Given the description of an element on the screen output the (x, y) to click on. 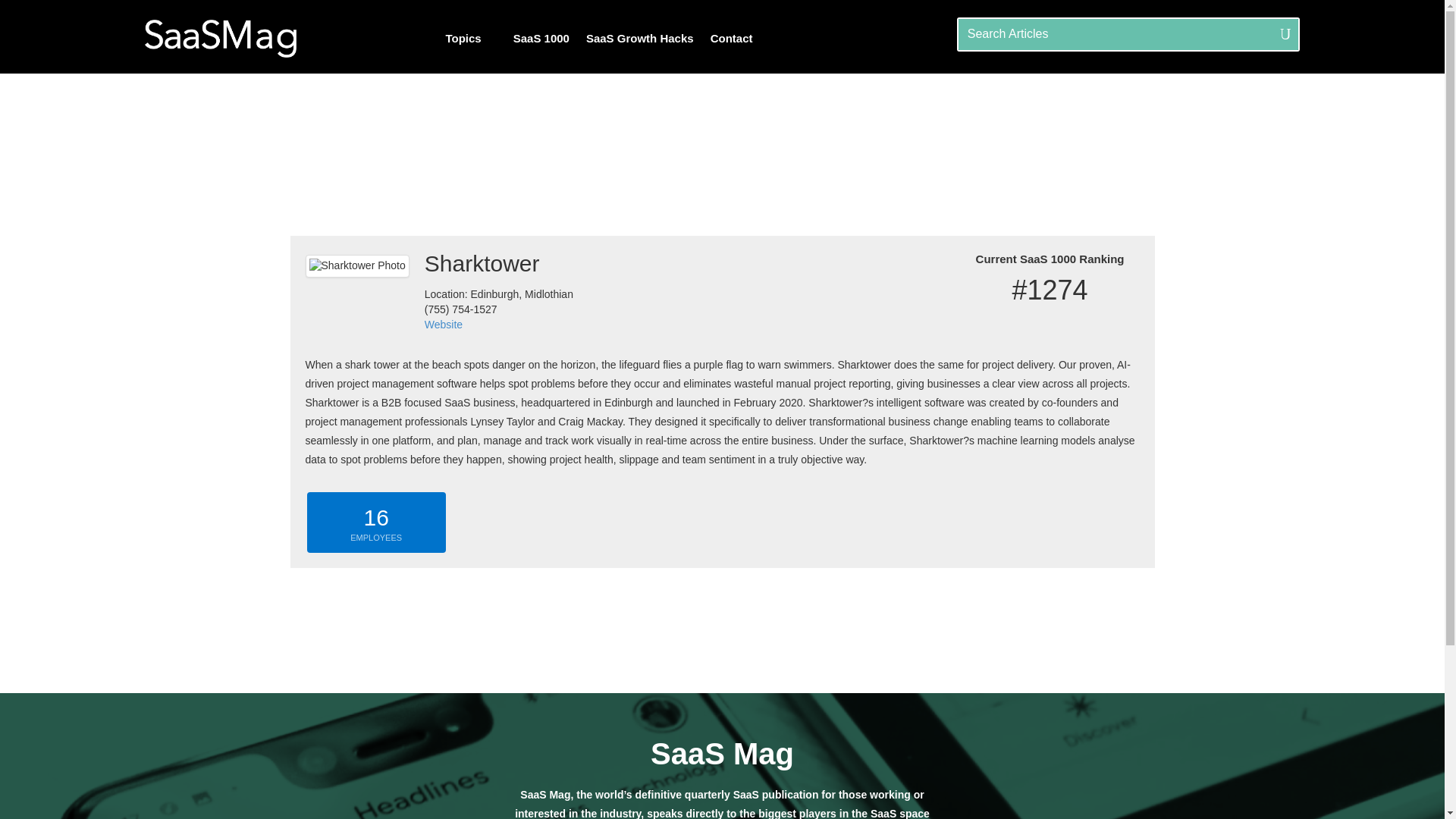
Sharktower (499, 266)
Contact (739, 38)
Sharktower Photo (356, 265)
Website (444, 324)
Search (29, 15)
SaaS Growth Hacks (640, 38)
SaaS 1000 (541, 38)
